Given the description of an element on the screen output the (x, y) to click on. 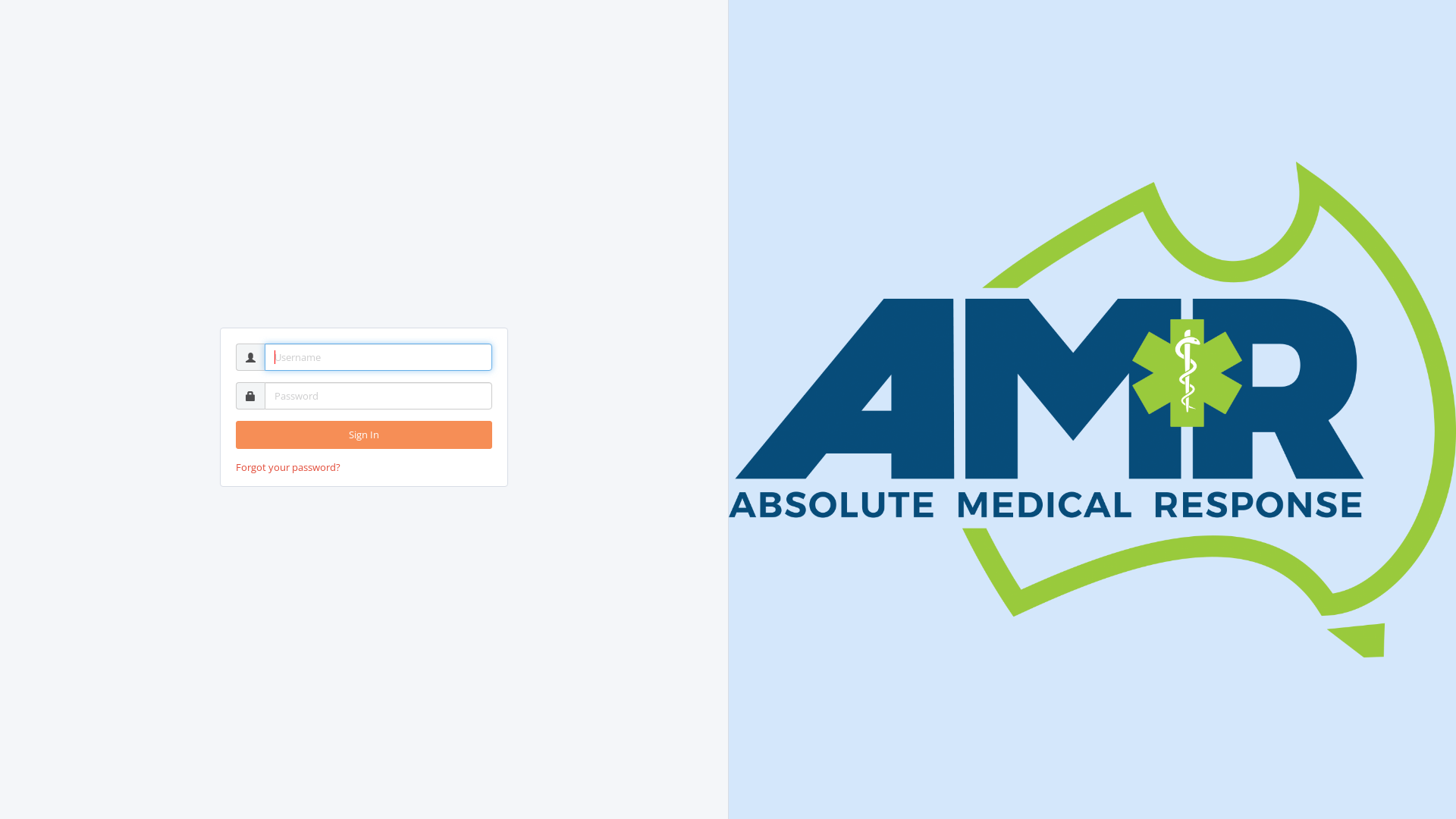
Forgot your password? Element type: text (287, 466)
Sign In Element type: text (363, 434)
